Given the description of an element on the screen output the (x, y) to click on. 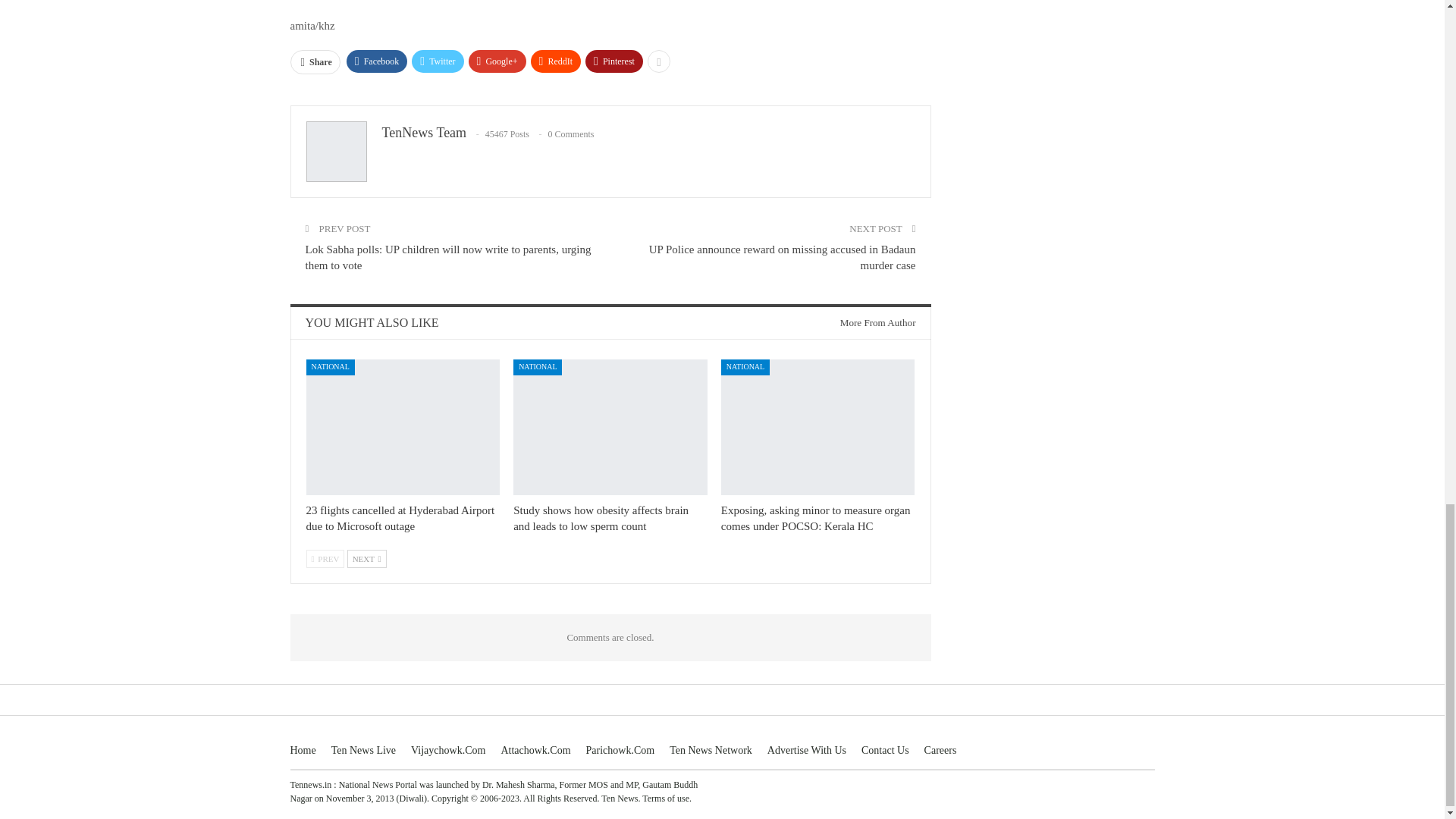
Next (367, 558)
Previous (325, 558)
Facebook (376, 60)
